Given the description of an element on the screen output the (x, y) to click on. 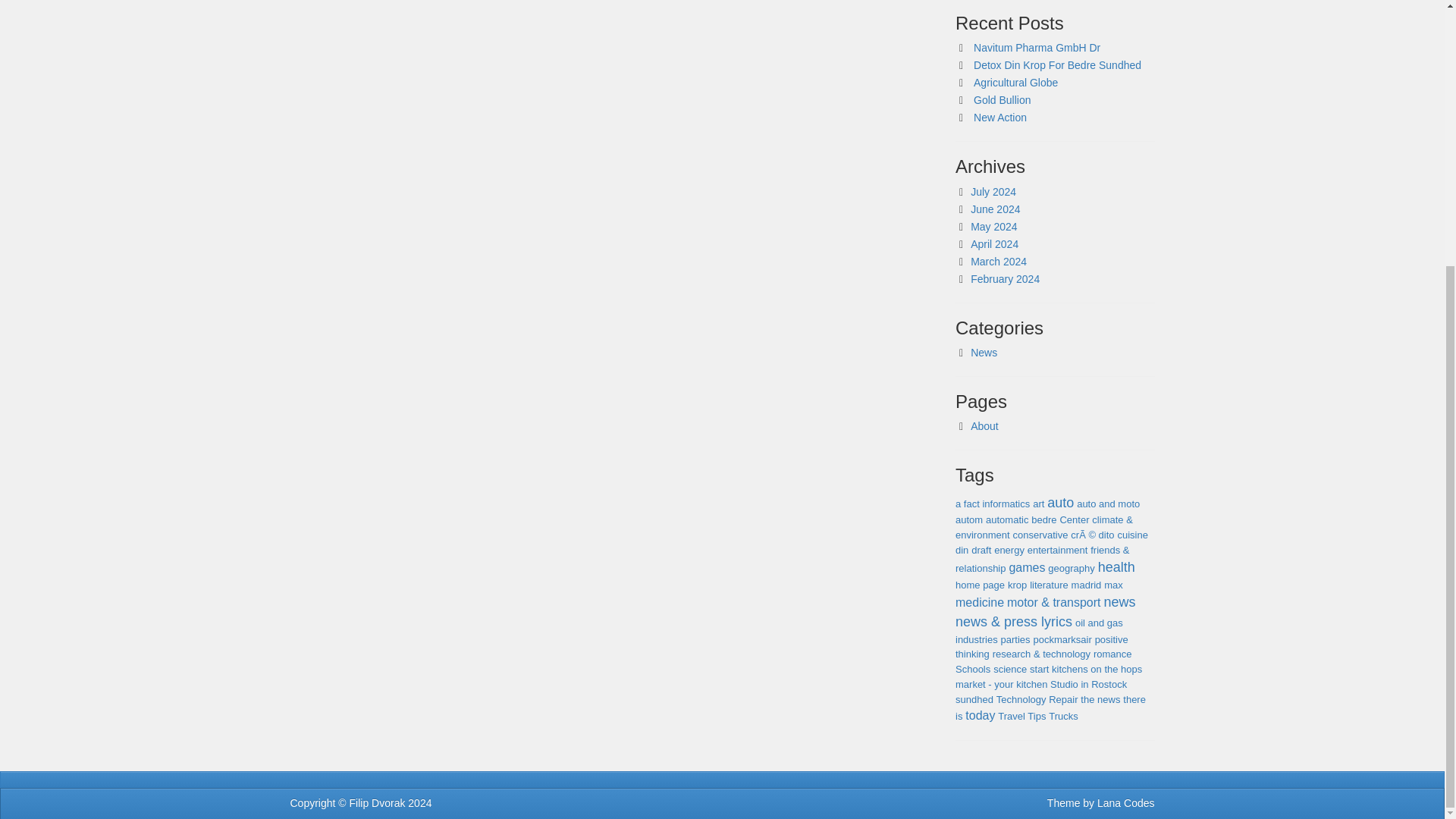
Gold Bullion (1002, 100)
cuisine (1131, 534)
entertainment (1057, 550)
bedre (1043, 519)
News (984, 352)
conservative (1039, 534)
New Action (1000, 117)
May 2024 (993, 226)
June 2024 (995, 209)
Center (1074, 519)
Agricultural Globe (1016, 82)
automatic (1006, 519)
Detox Din Krop For Bedre Sundhed (1057, 64)
energy (1009, 550)
draft (981, 550)
